Given the description of an element on the screen output the (x, y) to click on. 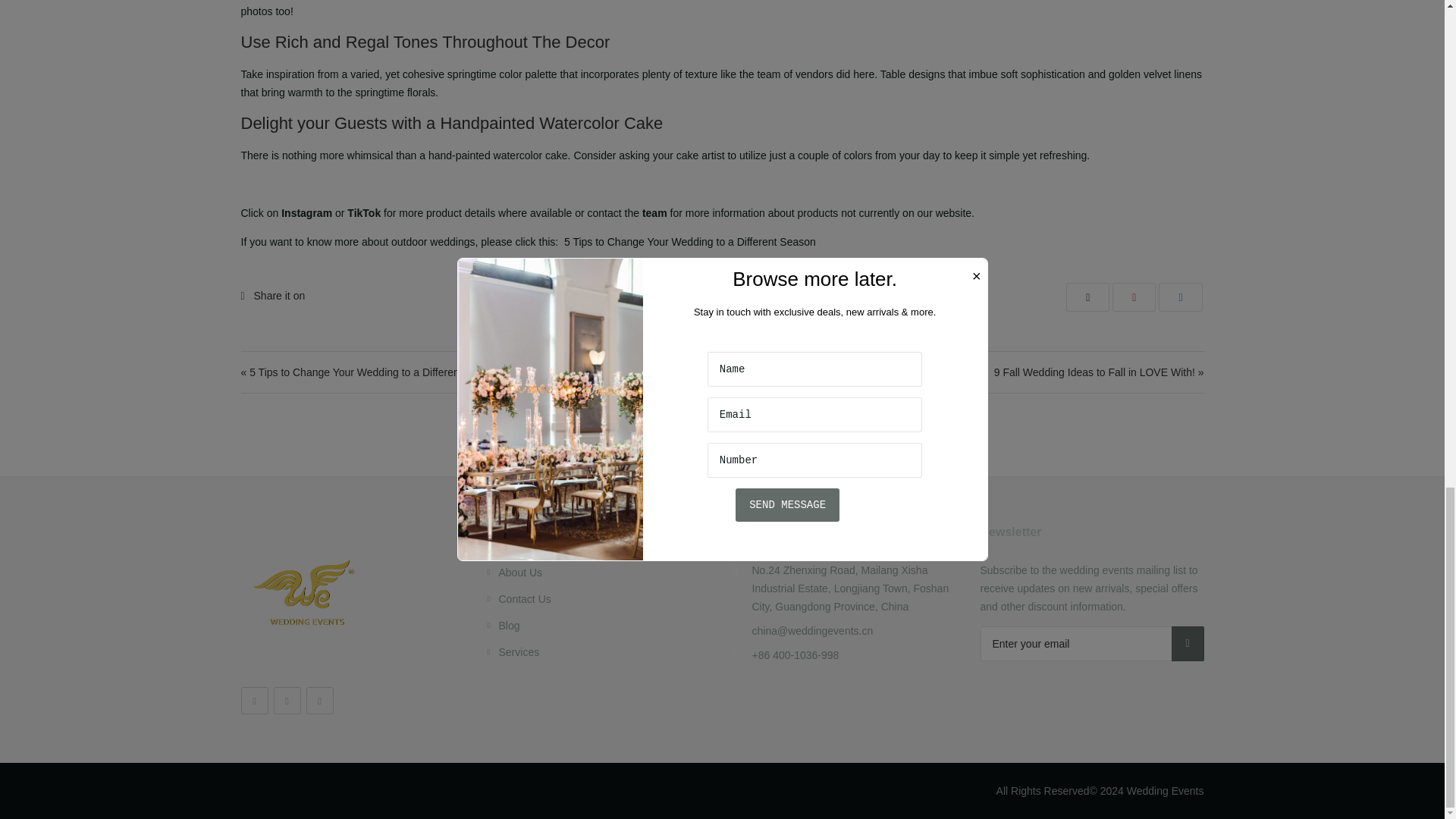
Pinterest (319, 700)
Instagram (286, 700)
Youtube (254, 700)
